Given the description of an element on the screen output the (x, y) to click on. 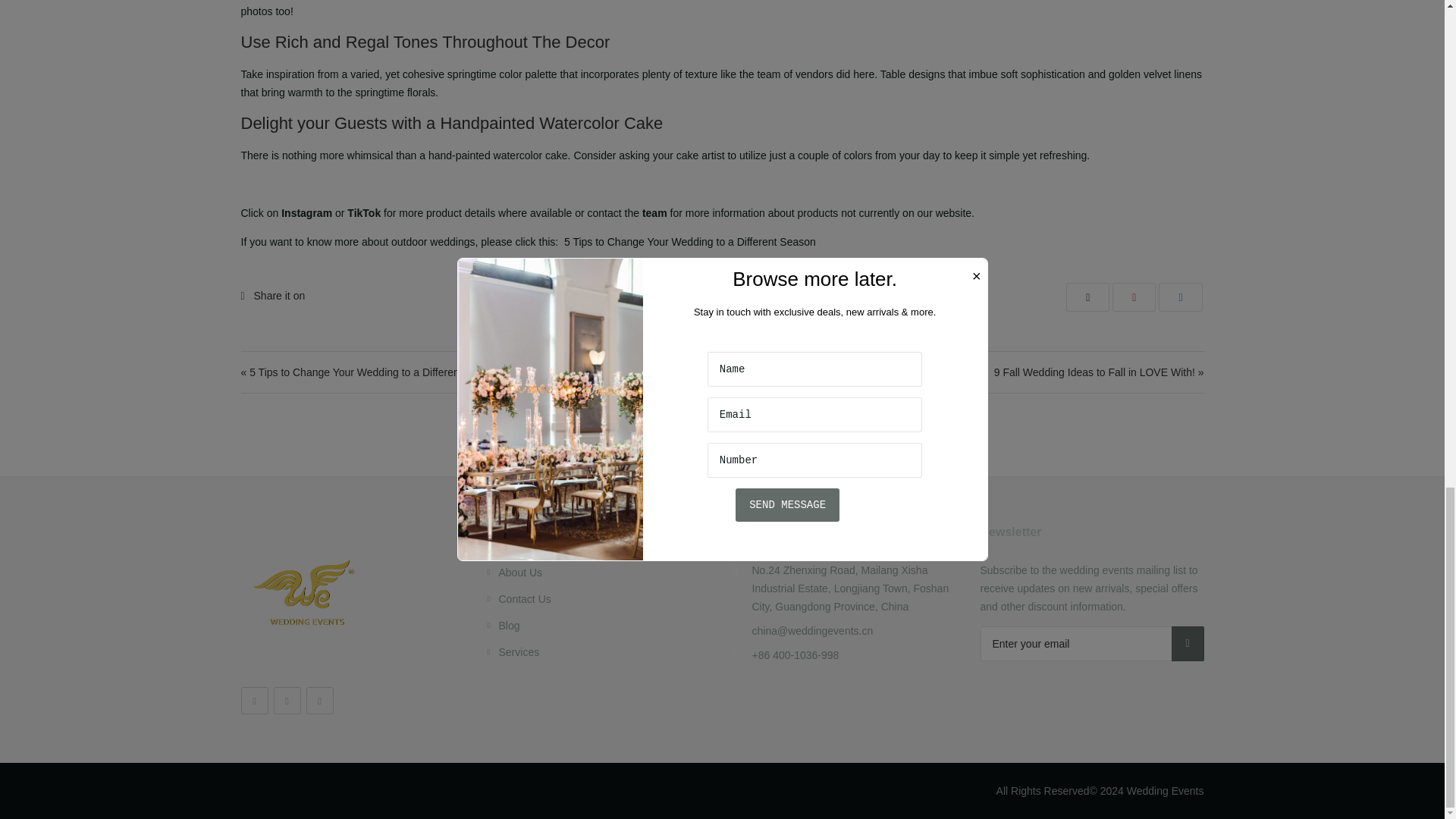
Pinterest (319, 700)
Instagram (286, 700)
Youtube (254, 700)
